Given the description of an element on the screen output the (x, y) to click on. 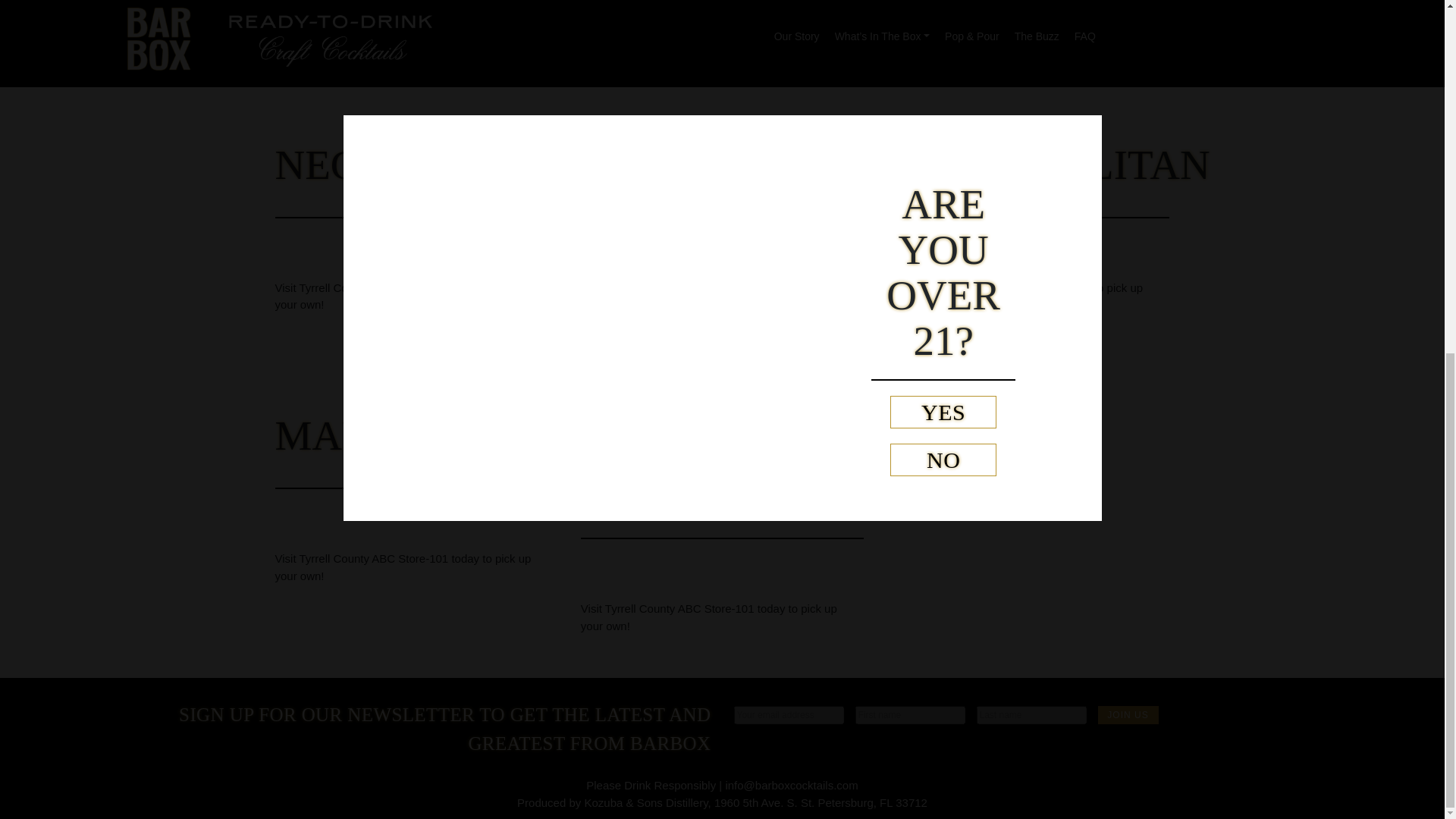
MARGARITA (399, 435)
NEGRONI (368, 164)
COSMOPOLITAN (1047, 164)
Join us (1127, 714)
Join us (1127, 714)
VODKA SOUR (715, 164)
GIN LEMONADE (697, 460)
